Given the description of an element on the screen output the (x, y) to click on. 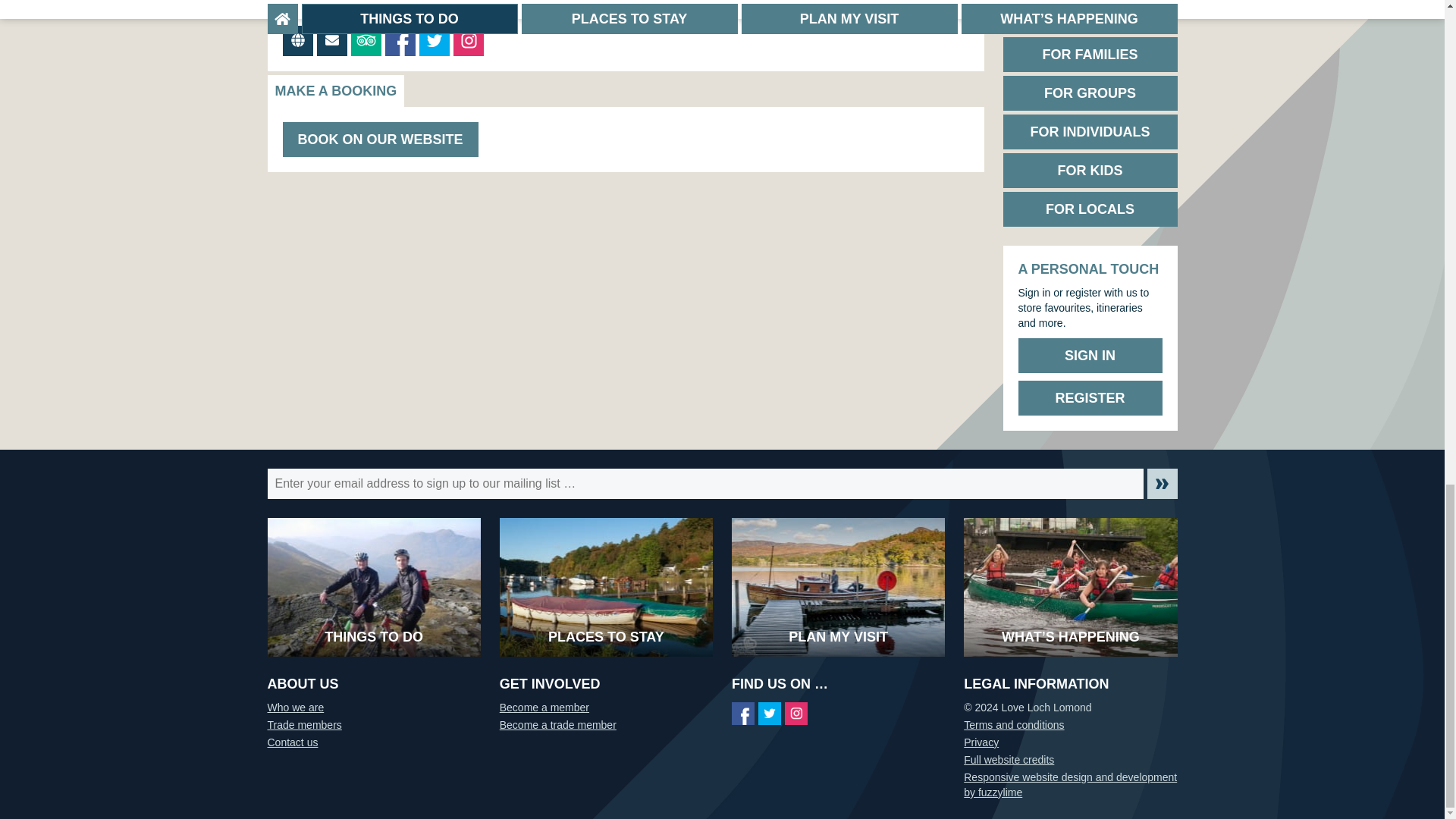
BOOK ON OUR WEBSITE (379, 139)
Go (1161, 483)
